Given the description of an element on the screen output the (x, y) to click on. 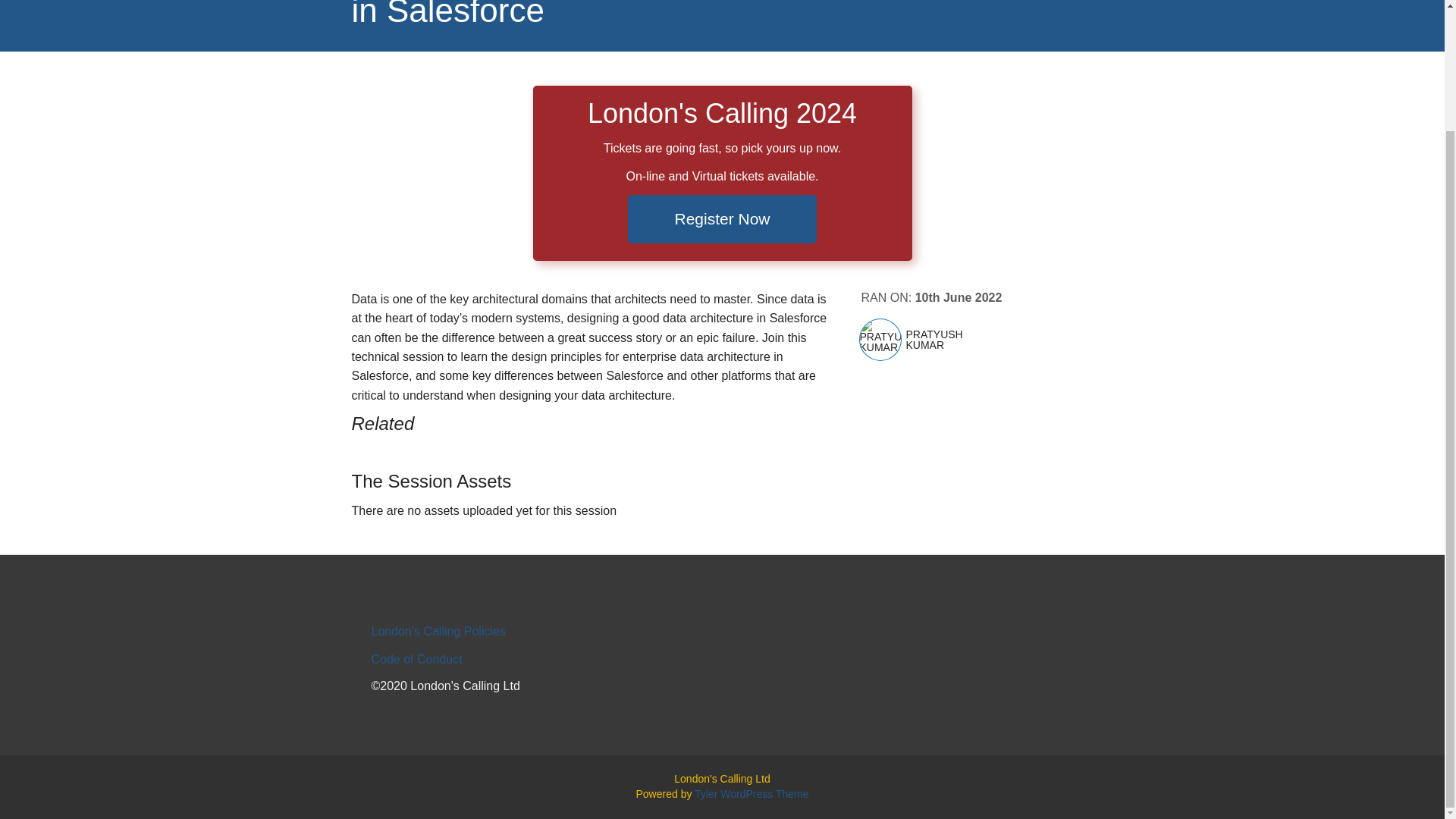
Pratyush Kumar (880, 339)
PRATYUSH KUMAR (964, 339)
Tyler WordPress Theme (751, 793)
Code of Conduct (417, 658)
Register Now (721, 218)
London's Calling Policies (438, 631)
